Given the description of an element on the screen output the (x, y) to click on. 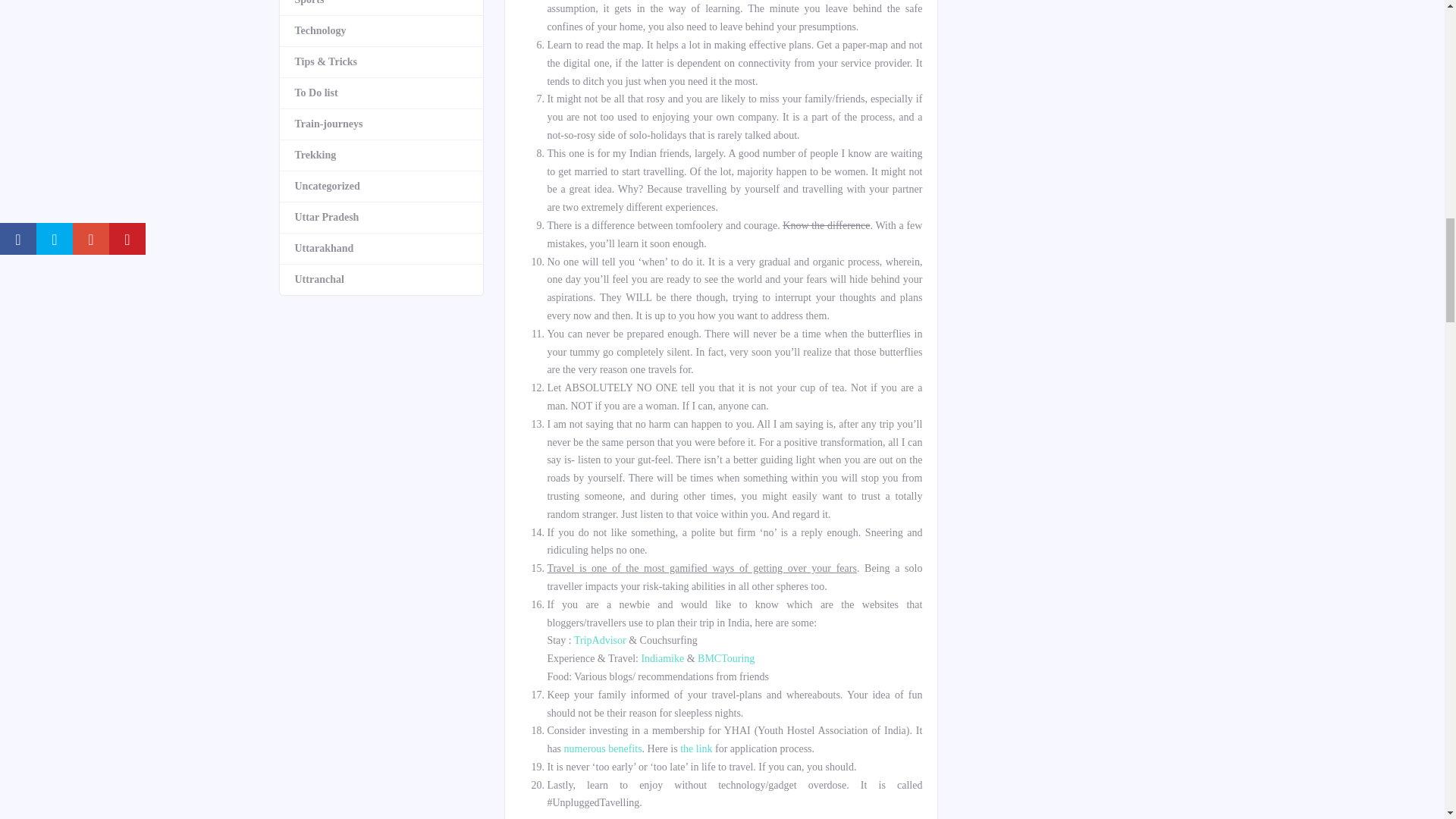
BMCTouring (725, 658)
the link (695, 748)
numerous benefits (603, 748)
TripAdvisor (599, 640)
Indiamike (662, 658)
